Given the description of an element on the screen output the (x, y) to click on. 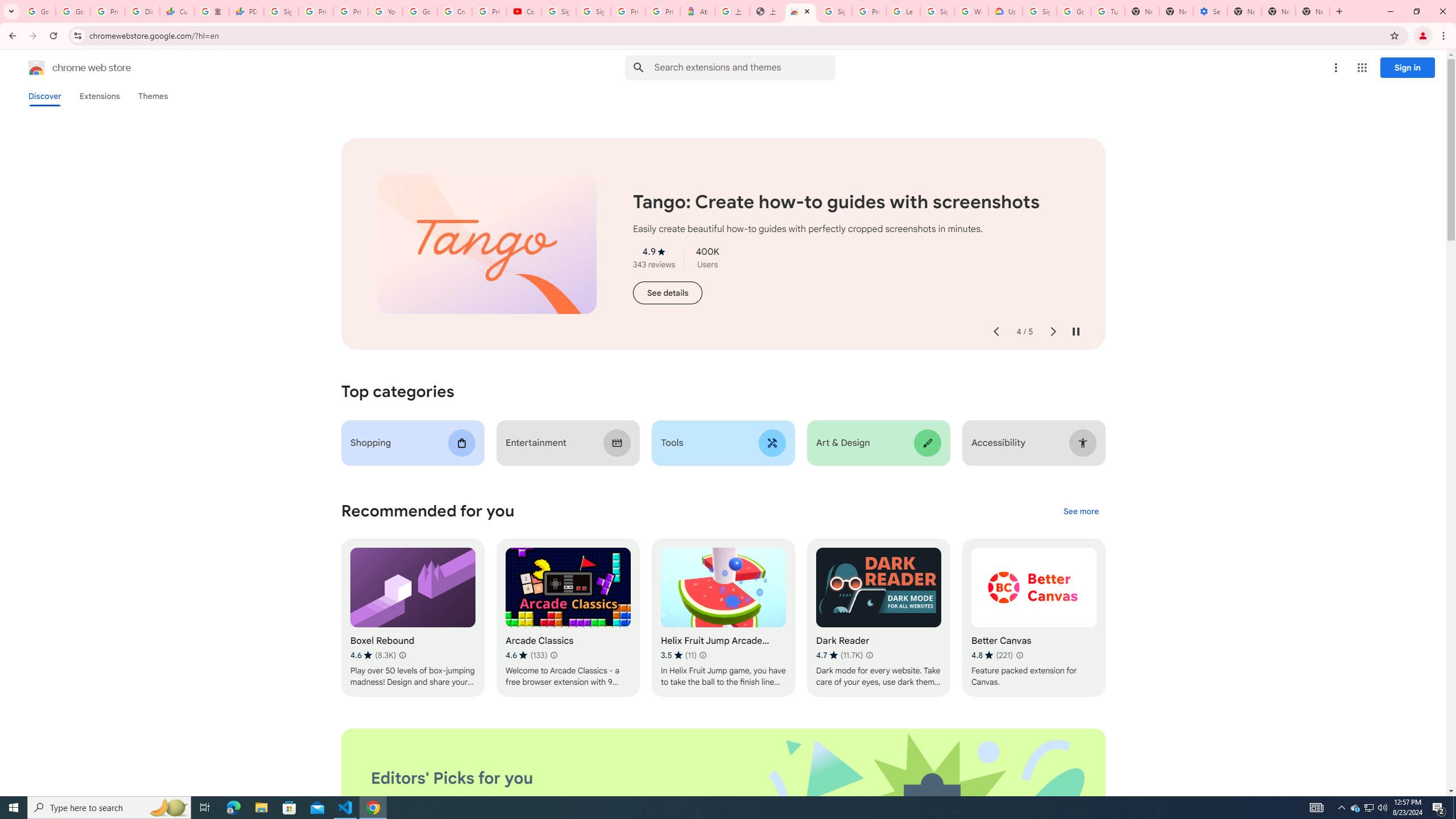
Atour Hotel - Google hotels (697, 11)
Content Creator Programs & Opportunities - YouTube Creators (524, 11)
Create your Google Account (454, 11)
Sign in - Google Accounts (592, 11)
Entertainment (567, 443)
Previous slide (995, 331)
Sign in - Google Accounts (281, 11)
